Given the description of an element on the screen output the (x, y) to click on. 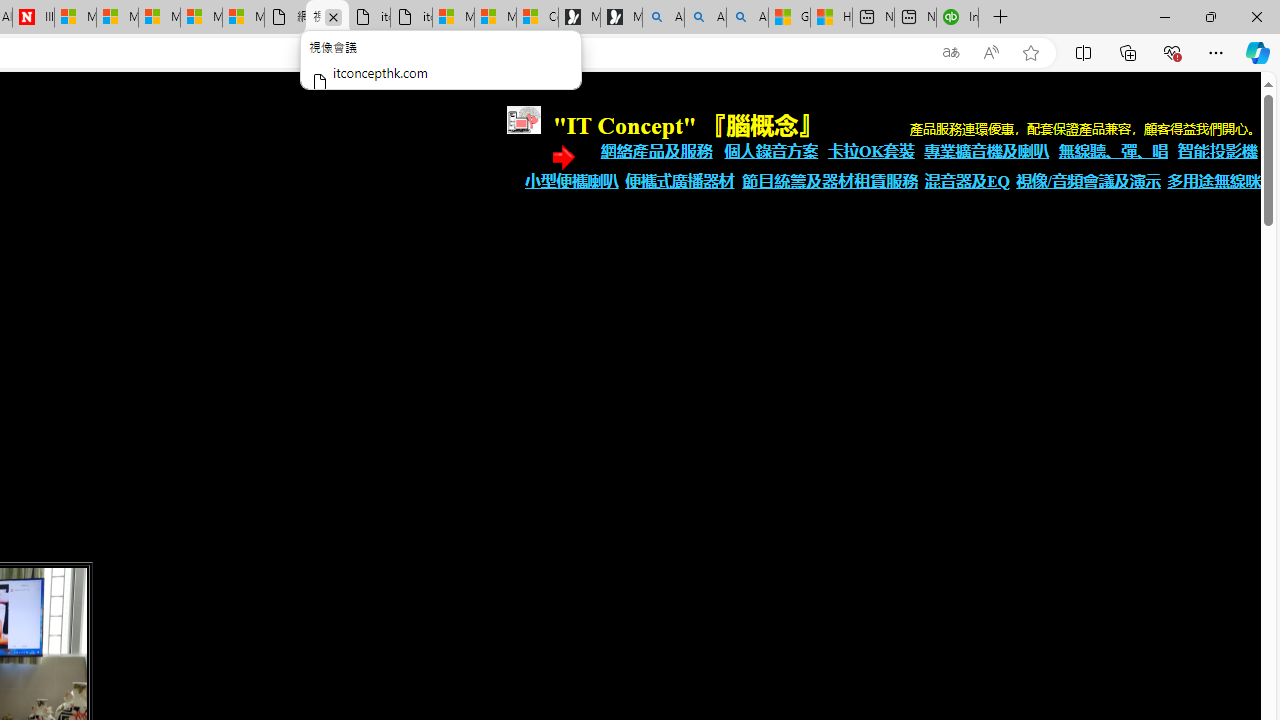
Alabama high school quarterback dies - Search Videos (747, 17)
Alabama high school quarterback dies - Search (662, 17)
